Given the description of an element on the screen output the (x, y) to click on. 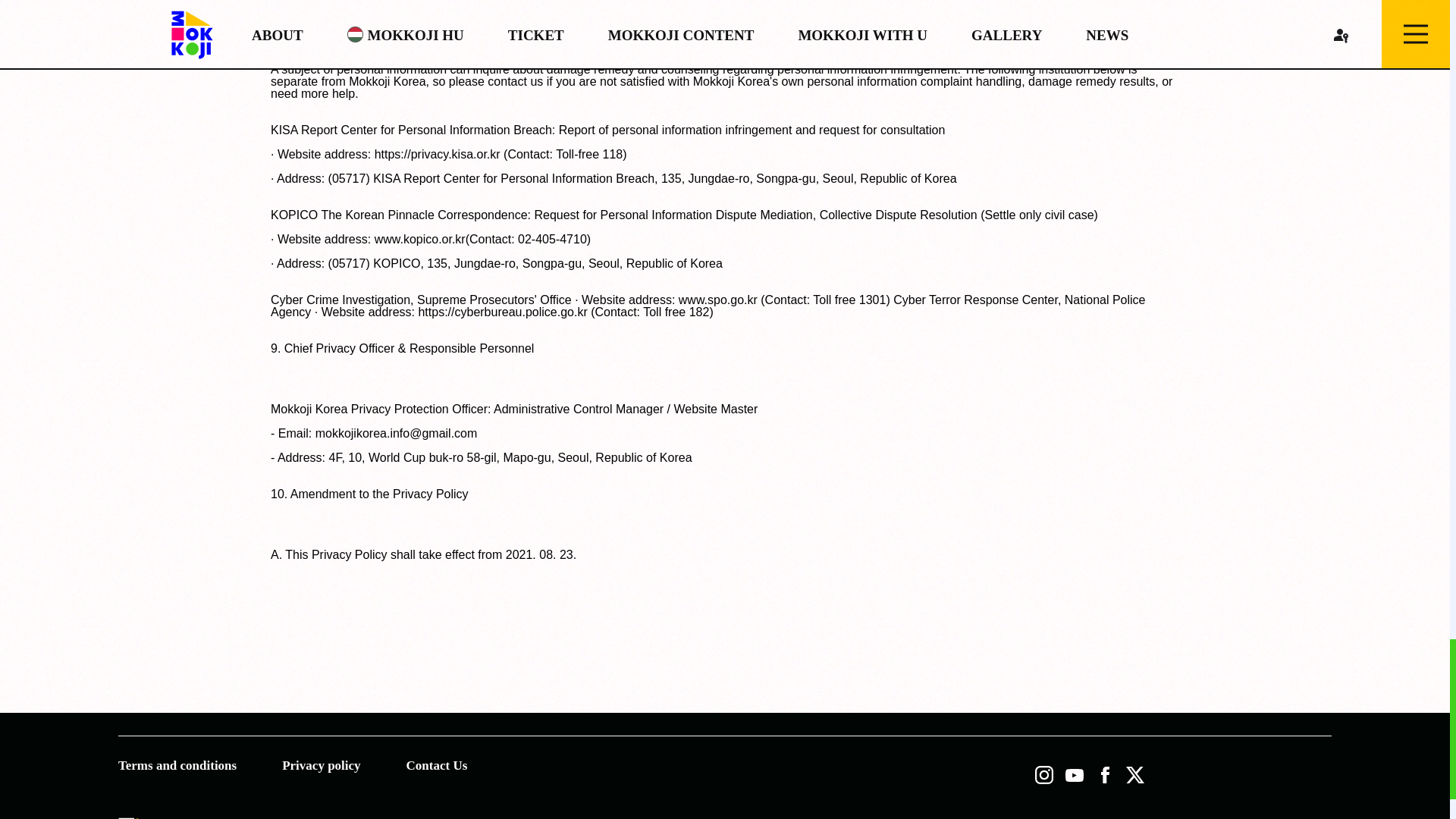
Shortcut to a new window (1044, 774)
Shortcut to a new window (1134, 774)
Shortcut to a new window (1104, 774)
Shortcut to a new window (1074, 774)
